Given the description of an element on the screen output the (x, y) to click on. 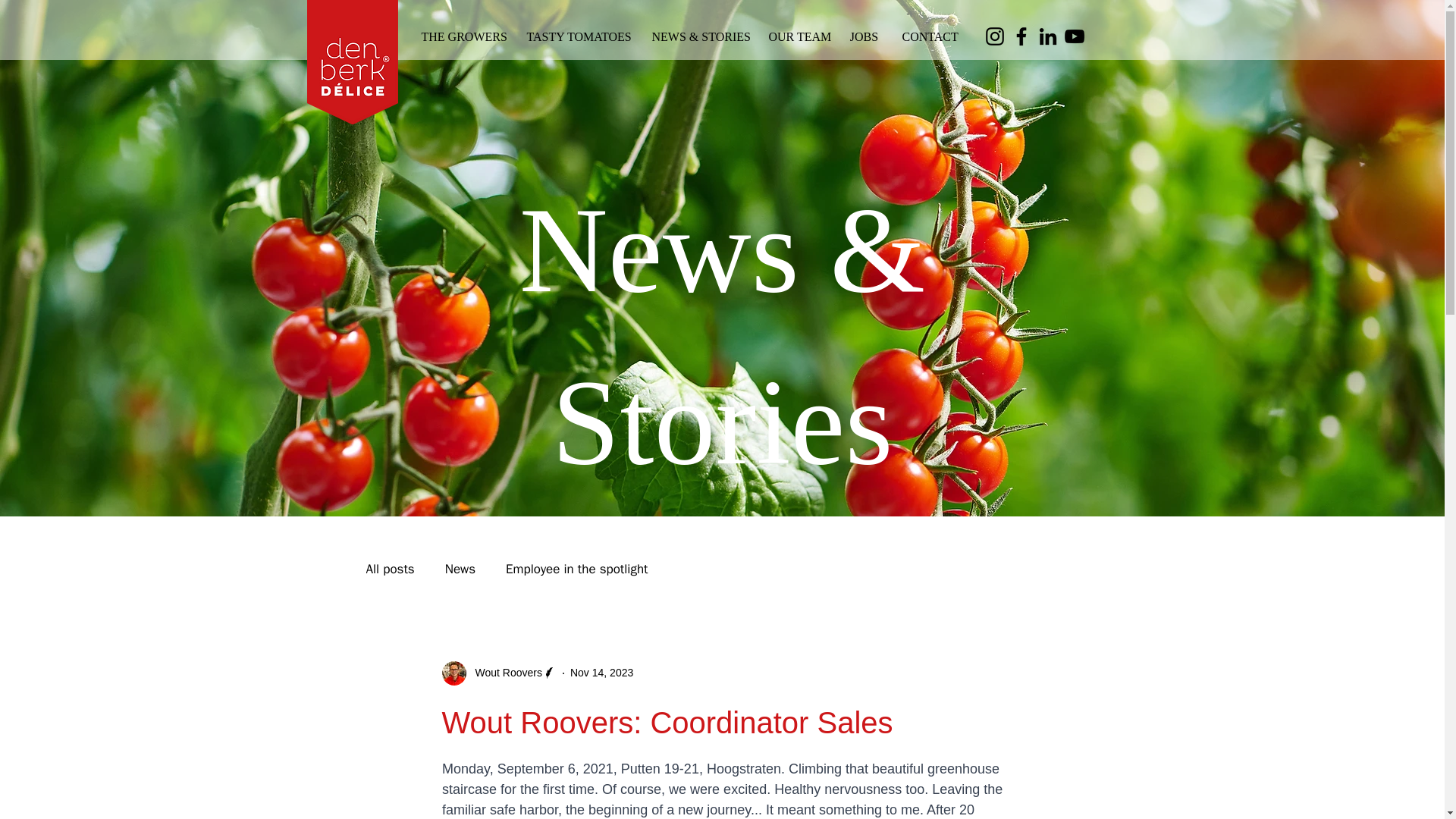
Nov 14, 2023 (601, 672)
Wout Roovers (498, 672)
CONTACT (929, 36)
News (460, 569)
Wout Roovers (503, 672)
JOBS (863, 36)
OUR TEAM (797, 36)
Employee in the spotlight (576, 569)
All posts (389, 569)
THE GROWERS (462, 36)
